Given the description of an element on the screen output the (x, y) to click on. 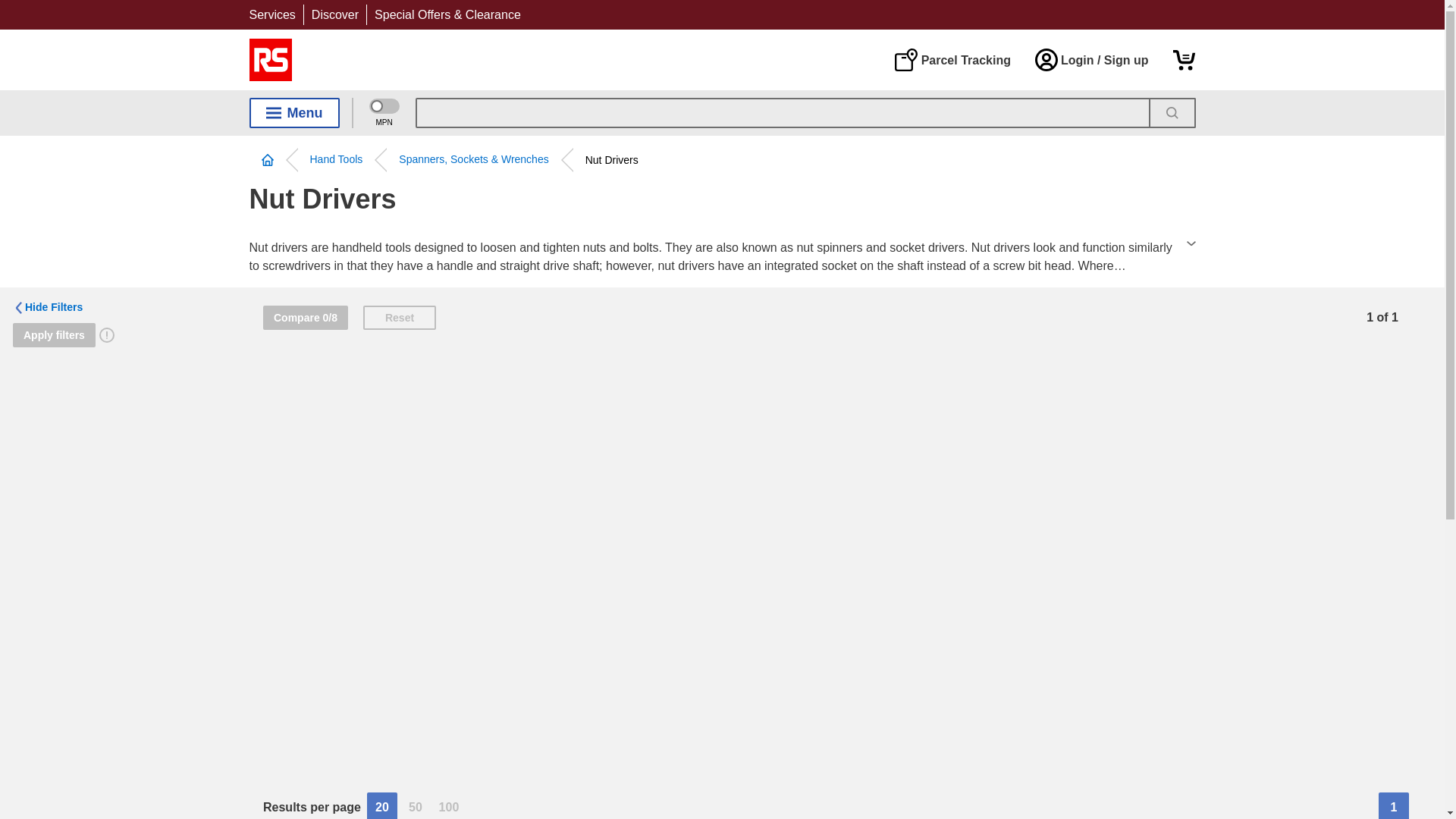
Parcel Tracking (951, 59)
Discover (334, 14)
Services (271, 14)
Menu (293, 112)
